Given the description of an element on the screen output the (x, y) to click on. 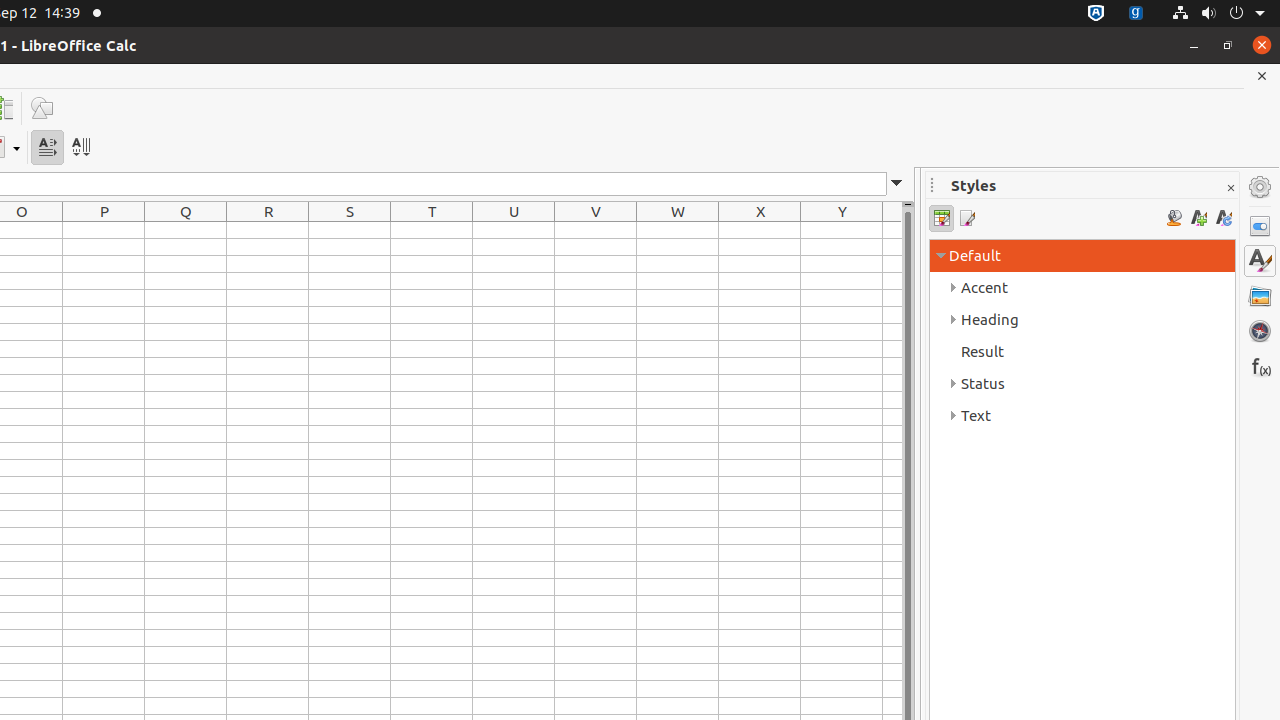
Cell Styles Element type: push-button (941, 218)
P1 Element type: table-cell (104, 230)
V1 Element type: table-cell (596, 230)
Page Styles Element type: push-button (966, 218)
Close Sidebar Deck Element type: push-button (1230, 188)
